Given the description of an element on the screen output the (x, y) to click on. 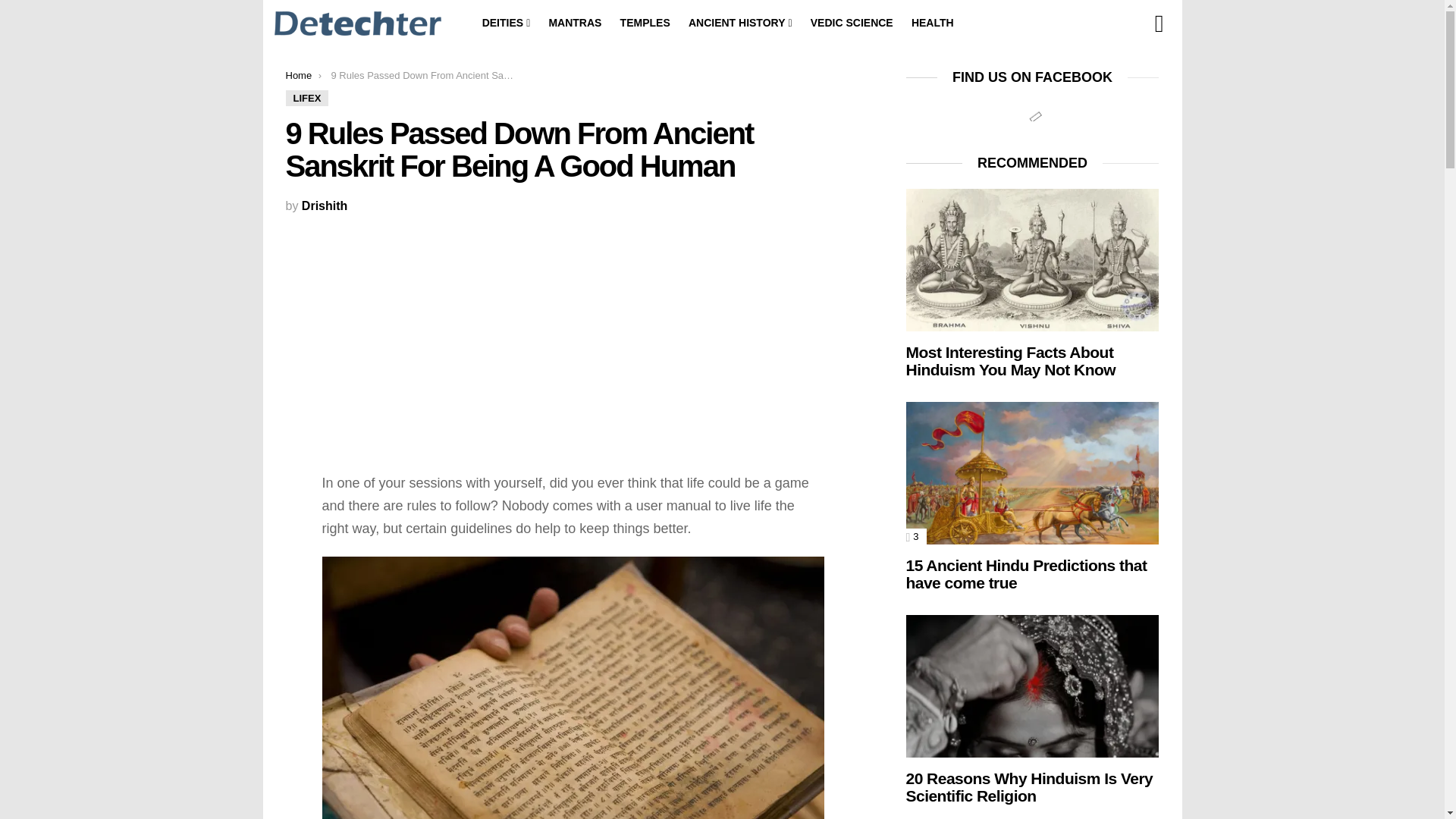
TEMPLES (645, 22)
Posts by Drishith (324, 205)
Drishith (324, 205)
VEDIC SCIENCE (852, 22)
ANCIENT HISTORY (740, 23)
Home (298, 75)
DEITIES (506, 23)
SEARCH (1159, 23)
HEALTH (932, 22)
LIFEX (307, 98)
MANTRAS (574, 22)
